Given the description of an element on the screen output the (x, y) to click on. 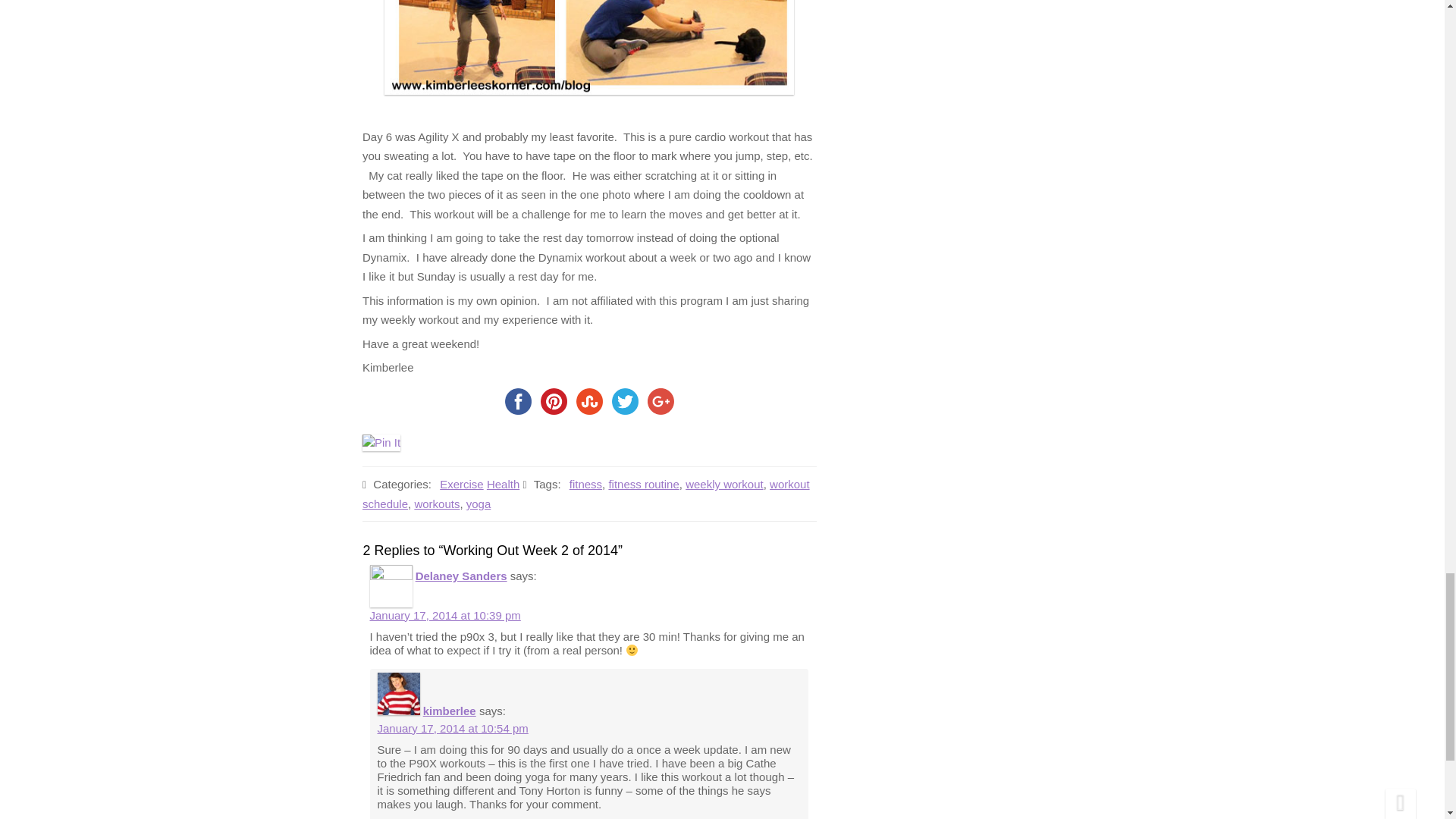
twitter (624, 396)
google (660, 397)
workout schedule (610, 336)
fitness routine (641, 297)
Delaney Sanders (460, 575)
kimberlee (449, 710)
workouts (454, 358)
Health (518, 272)
weekly workout (711, 312)
facebook (518, 386)
January 17, 2014 at 10:39 pm (445, 615)
pinterest (553, 389)
yoga (489, 370)
Exercise (486, 245)
stumbleupon (588, 393)
